Given the description of an element on the screen output the (x, y) to click on. 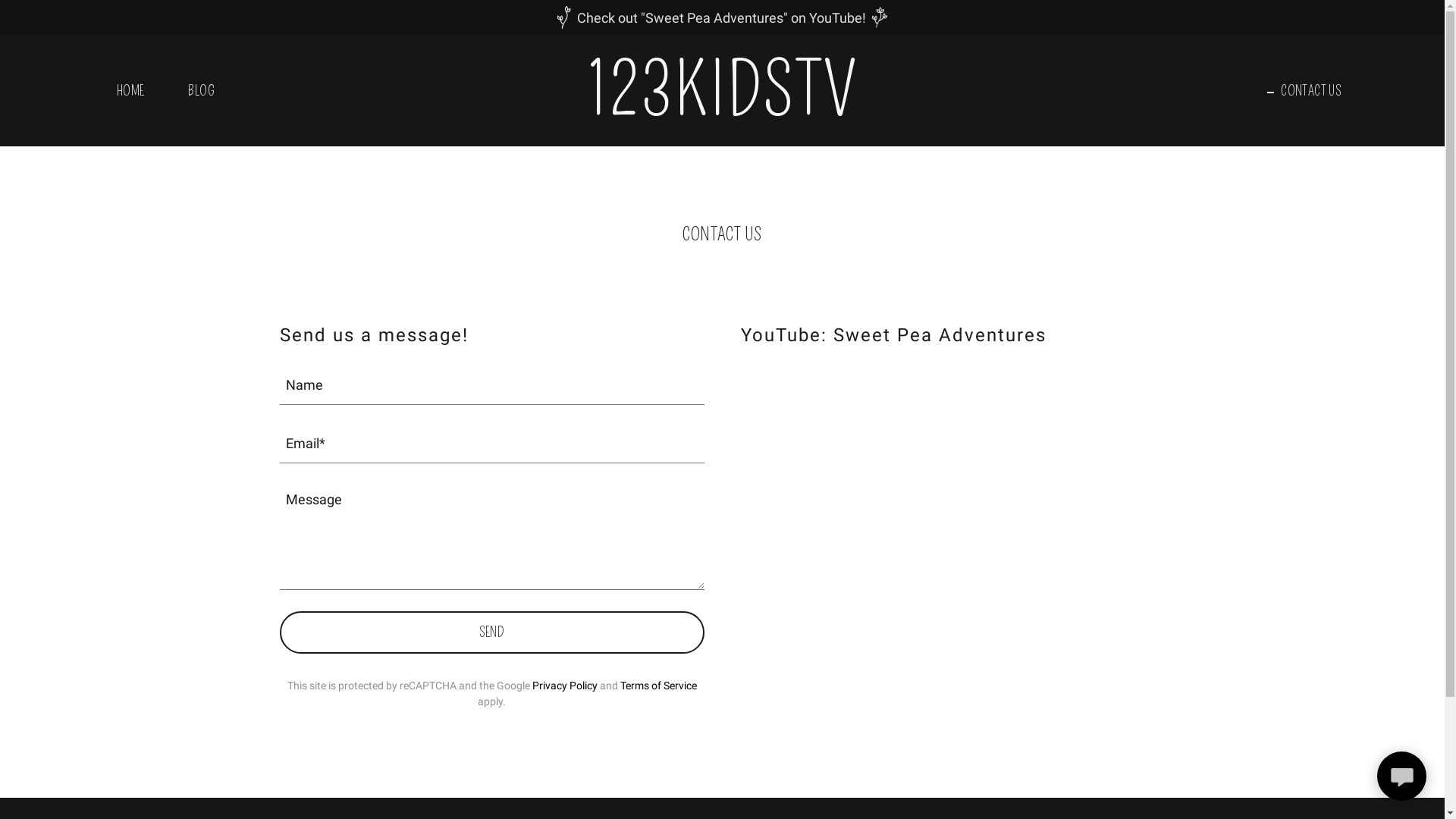
HOME Element type: text (123, 90)
CONTACT US Element type: text (1304, 90)
SEND Element type: text (491, 632)
Terms of Service Element type: text (658, 685)
123KIDSTV Element type: text (721, 110)
BLOG Element type: text (193, 90)
Privacy Policy Element type: text (564, 685)
